Given the description of an element on the screen output the (x, y) to click on. 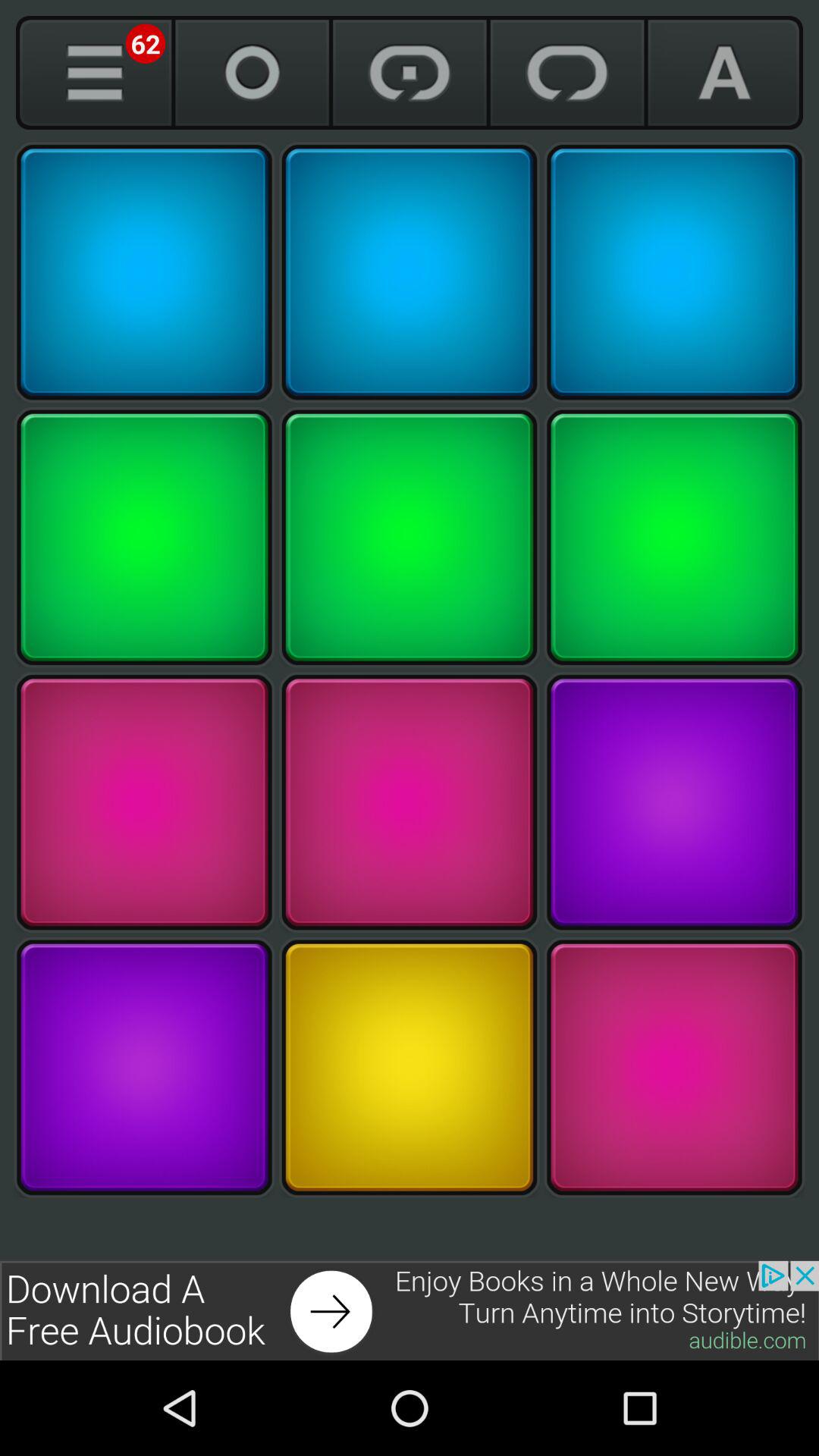
select pink color (674, 1067)
